Given the description of an element on the screen output the (x, y) to click on. 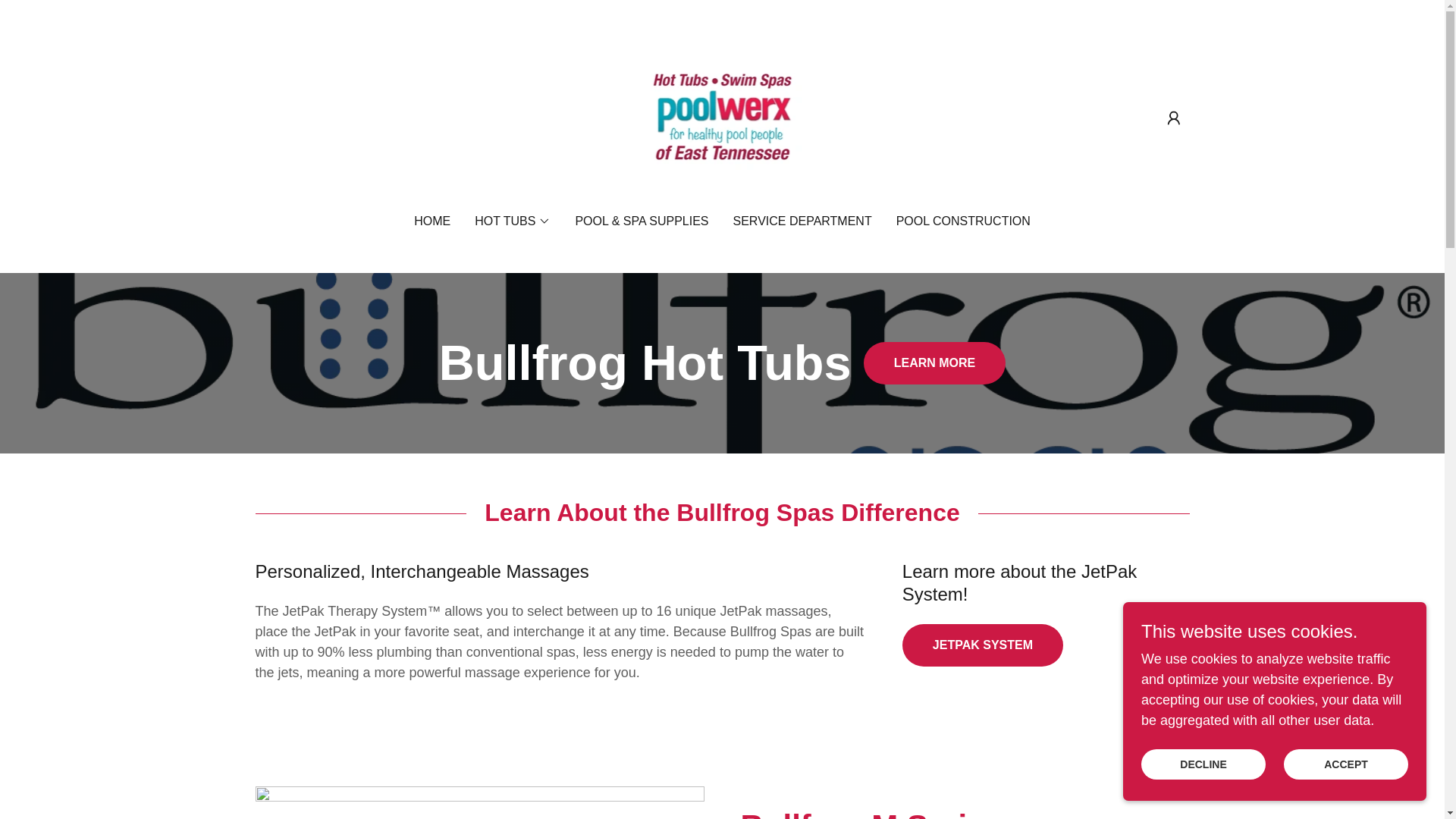
HOT TUBS (512, 221)
HOME (431, 221)
SERVICE DEPARTMENT (802, 221)
POOL CONSTRUCTION (963, 221)
Poolwerx East Tennessee (722, 117)
